Given the description of an element on the screen output the (x, y) to click on. 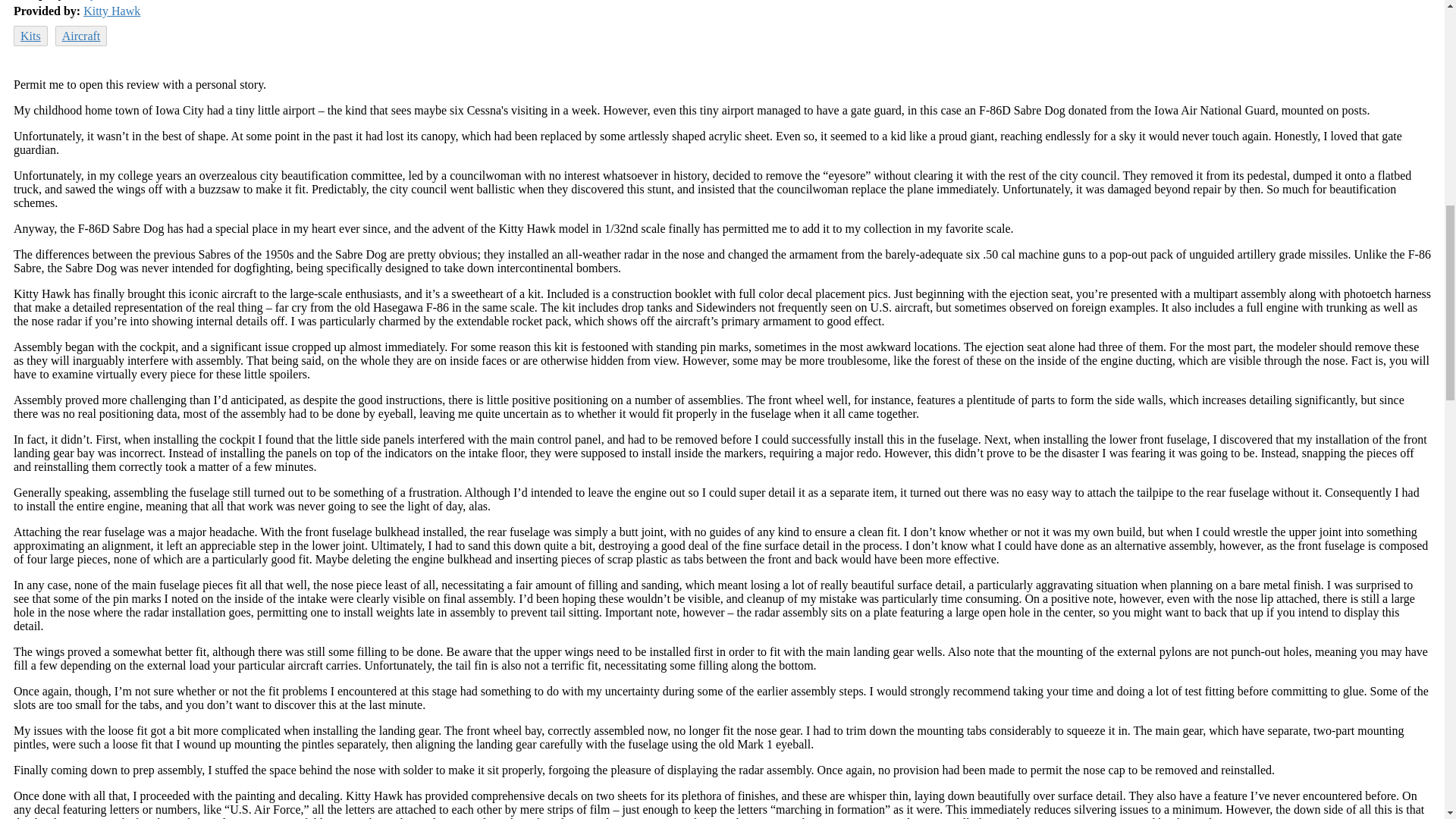
Kitty Hawk (110, 10)
Aircraft (81, 35)
Kits (30, 35)
